Given the description of an element on the screen output the (x, y) to click on. 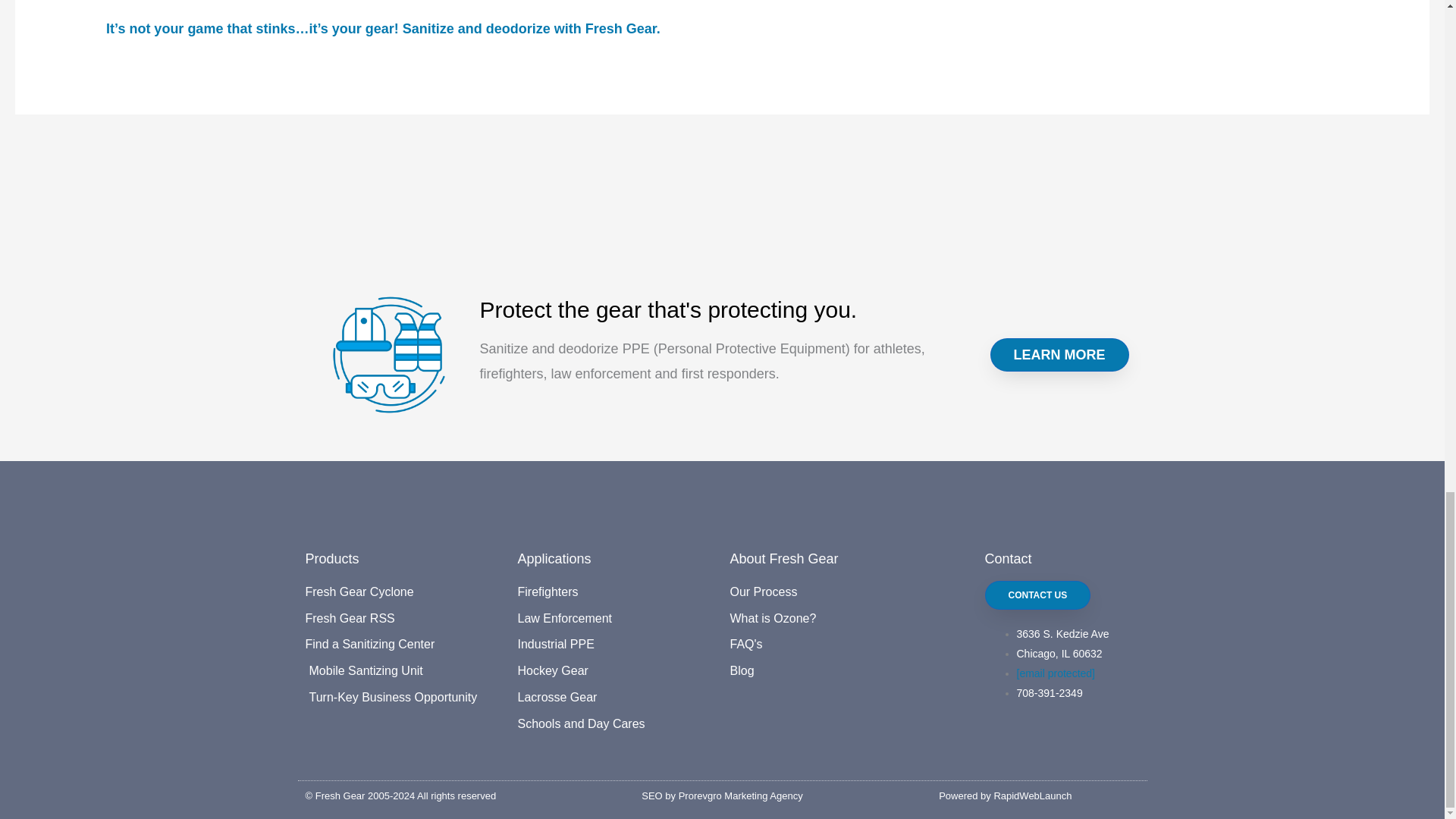
Hockey Gear (615, 671)
Fresh Gear RSS (403, 618)
Mobile Santizing Unit (403, 671)
Our Process (827, 591)
Law Enforcement (615, 618)
FAQ's (827, 644)
Turn-Key Business Opportunity (403, 697)
About Fresh Gear (783, 558)
Blog (827, 671)
Firefighters (615, 591)
What is Ozone? (827, 618)
LEARN MORE (1059, 354)
Fresh Gear Cyclone (403, 591)
Find a Sanitizing Center (403, 644)
